Given the description of an element on the screen output the (x, y) to click on. 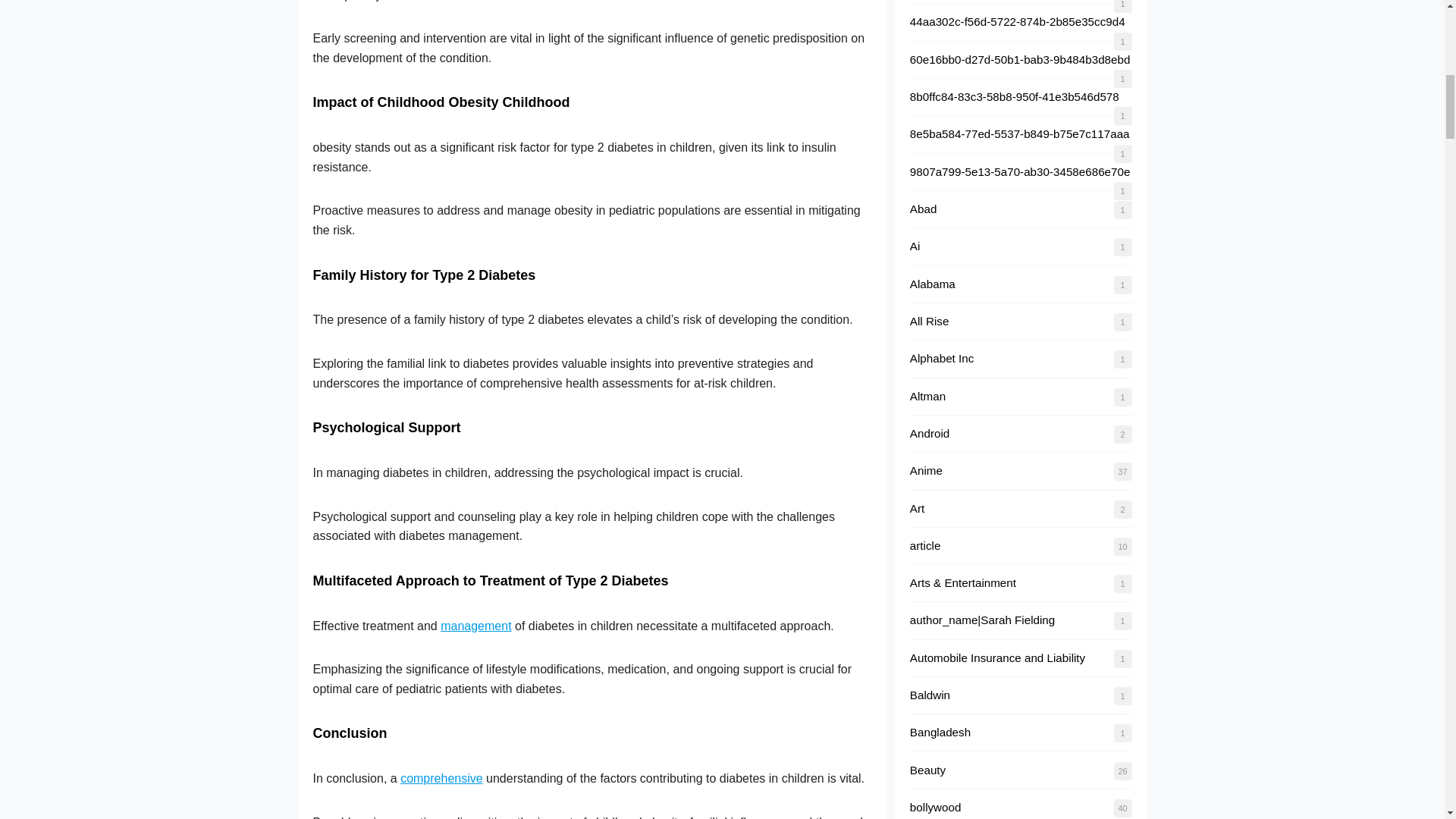
8b0ffc84-83c3-58b8-950f-41e3b546d578 (1014, 96)
comprehensive (441, 778)
44aa302c-f56d-5722-874b-2b85e35cc9d4 (1017, 21)
60e16bb0-d27d-50b1-bab3-9b484b3d8ebd (1020, 59)
management (476, 625)
